Given the description of an element on the screen output the (x, y) to click on. 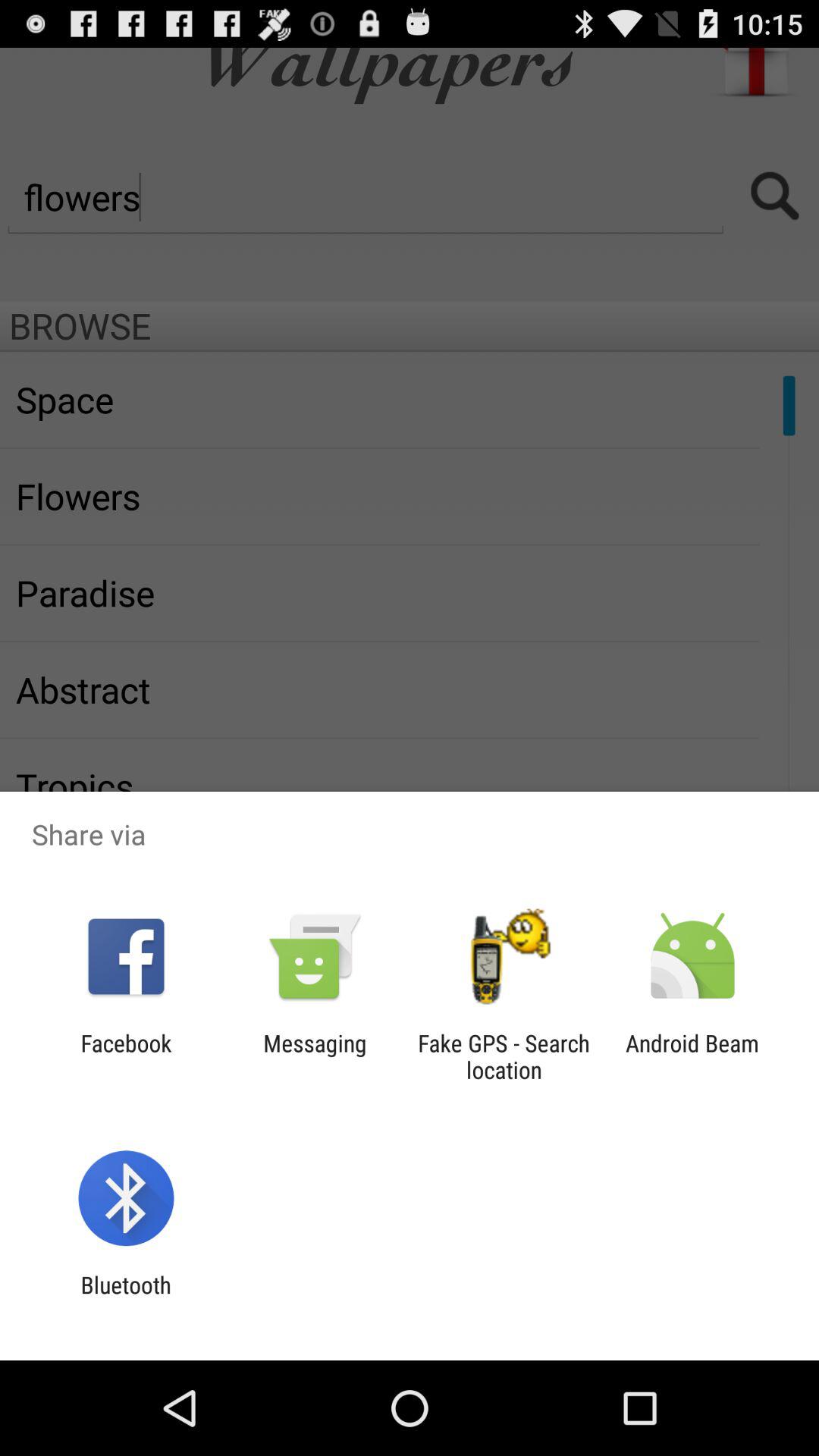
turn off app next to the fake gps search item (314, 1056)
